Given the description of an element on the screen output the (x, y) to click on. 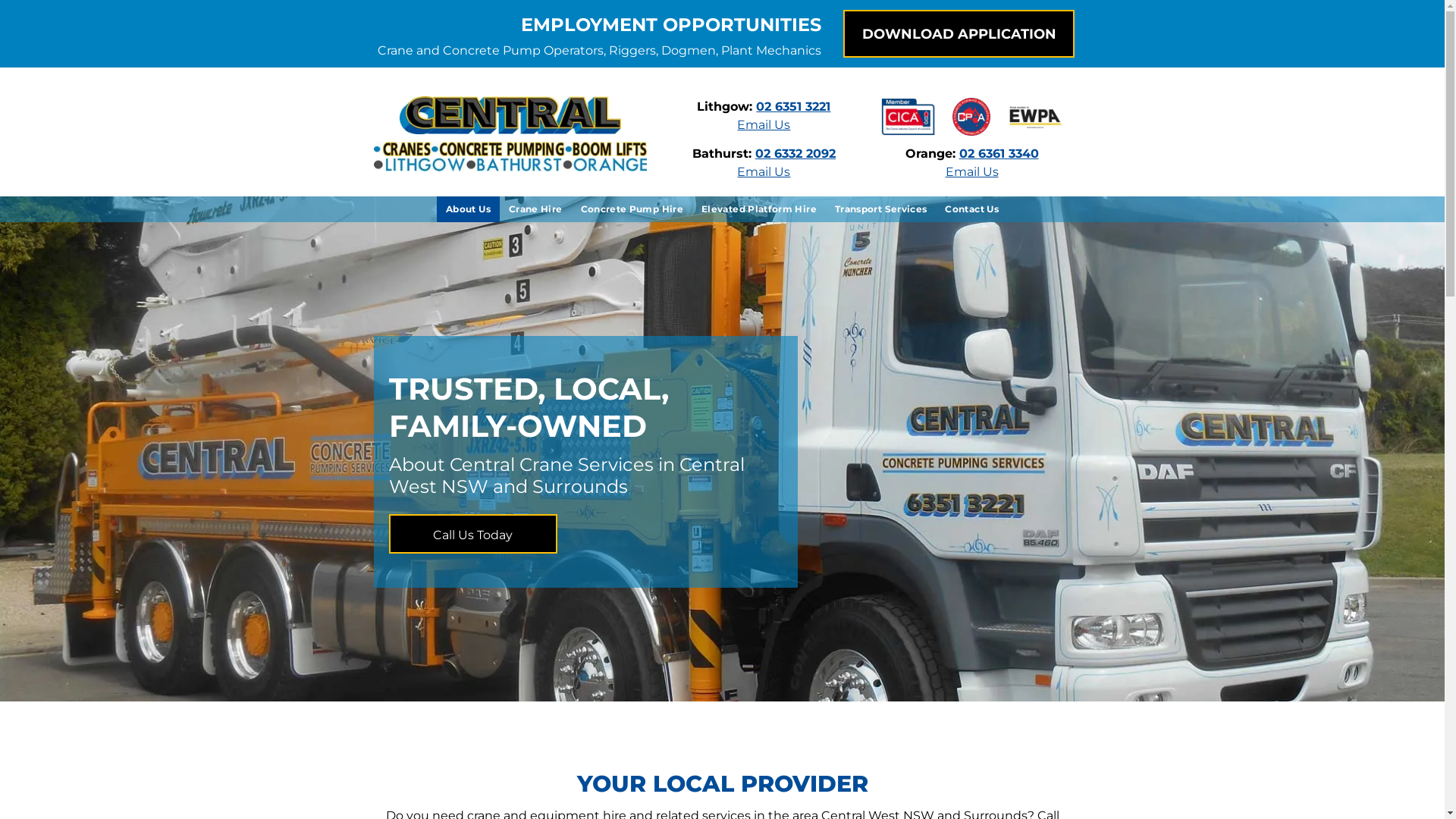
Transport Services Element type: text (880, 209)
Email Us Element type: text (763, 171)
DOWNLOAD APPLICATION Element type: text (959, 33)
Crane Hire Element type: text (535, 209)
About Us Element type: text (467, 209)
02 6351 3221 Element type: text (793, 106)
Concrete Pump Hire Element type: text (631, 209)
Email Us Element type: text (763, 124)
02 6361 3340 Element type: text (998, 153)
Email Us Element type: text (971, 171)
Call Us Today Element type: text (472, 533)
02 6332 2092 Element type: text (795, 153)
Contact Us Element type: text (971, 209)
Elevated Platform Hire Element type: text (758, 209)
